Given the description of an element on the screen output the (x, y) to click on. 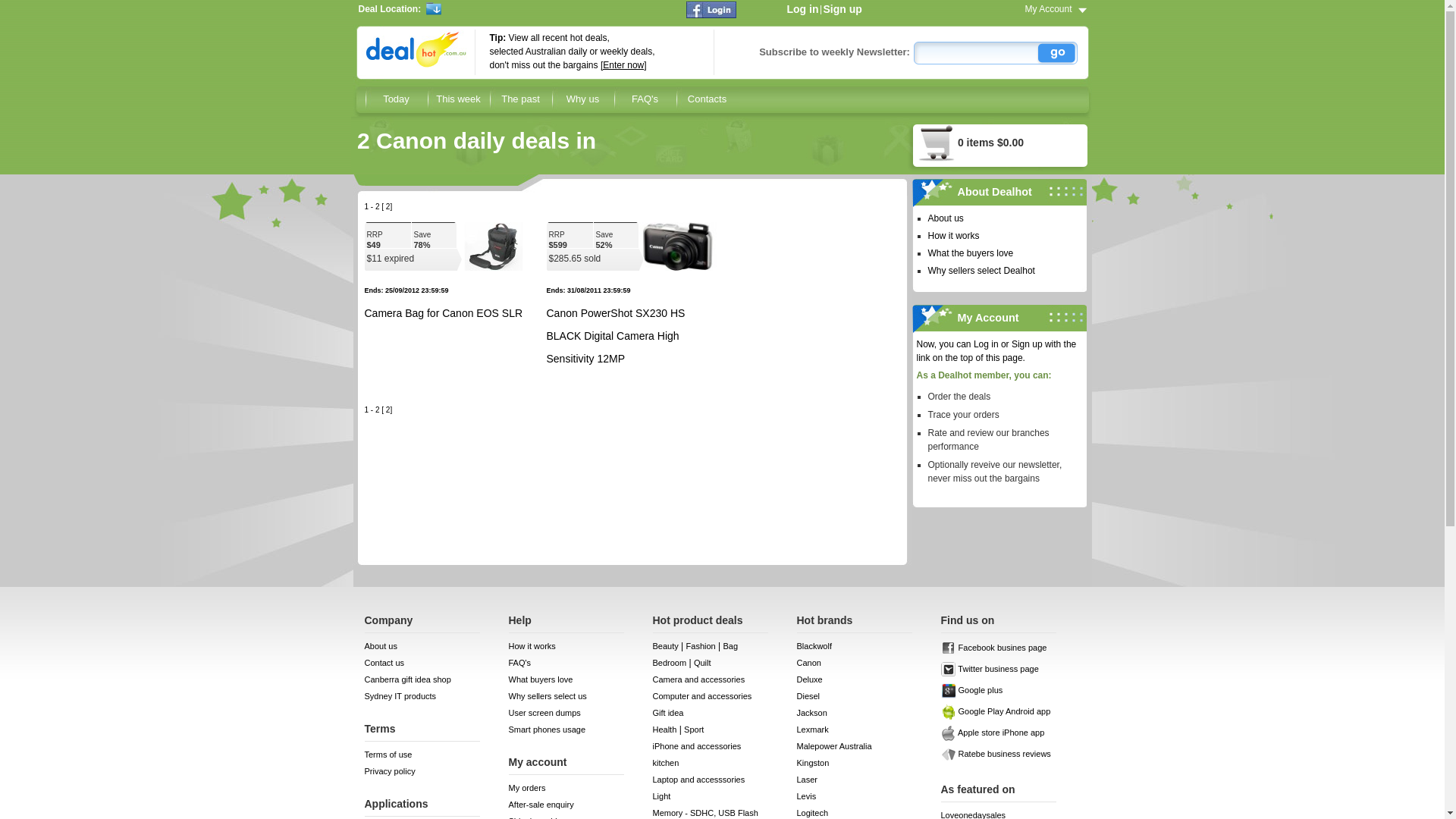
Contact us Element type: text (384, 662)
Ratebe business reviews Element type: text (995, 753)
FAQ's Element type: text (519, 662)
FAQ's Element type: text (645, 98)
What the buyers love Element type: text (1003, 252)
Diesel Element type: text (807, 695)
My orders Element type: text (526, 787)
Malepower Australia Element type: text (833, 745)
About us Element type: text (380, 645)
Canon Element type: text (808, 662)
Today Element type: text (396, 98)
Terms of use Element type: text (387, 754)
Lexmark Element type: text (812, 729)
Smart phones usage Element type: text (546, 729)
Sport Element type: text (693, 729)
kitchen Element type: text (665, 762)
Sydney IT products Element type: text (400, 695)
Google Play Android app Element type: text (995, 710)
iPhone and accessories Element type: text (696, 745)
Laser Element type: text (806, 779)
Facebook busines page Element type: text (993, 647)
Computer and accessories Element type: text (701, 695)
Why sellers select us Element type: text (547, 695)
Beauty Element type: text (664, 645)
Blackwolf Element type: text (813, 645)
Why us Element type: text (583, 98)
Camera and accessories Element type: text (698, 679)
Deal Location: Element type: text (479, 7)
How it works Element type: text (1003, 235)
Bedroom Element type: text (669, 662)
Google plus Element type: text (971, 689)
Bag Element type: text (729, 645)
Camera Bag for Canon EOS SLR Element type: text (443, 313)
Gift idea Element type: text (667, 712)
This week Element type: text (458, 98)
Log in Element type: text (803, 9)
My Account Element type: text (1048, 7)
Privacy policy Element type: text (389, 770)
Why sellers select Dealhot Element type: text (1003, 269)
Kingston Element type: text (812, 762)
Deluxe Element type: text (809, 679)
Light Element type: text (661, 795)
[Enter now] Element type: text (623, 64)
User screen dumps Element type: text (544, 712)
Quilt Element type: text (702, 662)
The past Element type: text (520, 98)
After-sale enquiry Element type: text (540, 804)
Health Element type: text (664, 729)
Apple store iPhone app Element type: text (992, 732)
About us Element type: text (1003, 217)
How it works Element type: text (531, 645)
Jackson Element type: text (811, 712)
Memory - SDHC, USB Flash Element type: text (704, 812)
What buyers love Element type: text (540, 679)
Laptop and accesssories Element type: text (698, 779)
Sign up Element type: text (842, 9)
Canberra gift idea shop Element type: text (407, 679)
Contacts Element type: text (707, 98)
Twitter business page Element type: text (989, 668)
Fashion Element type: text (700, 645)
Logitech Element type: text (812, 812)
Levis Element type: text (805, 795)
